Given the description of an element on the screen output the (x, y) to click on. 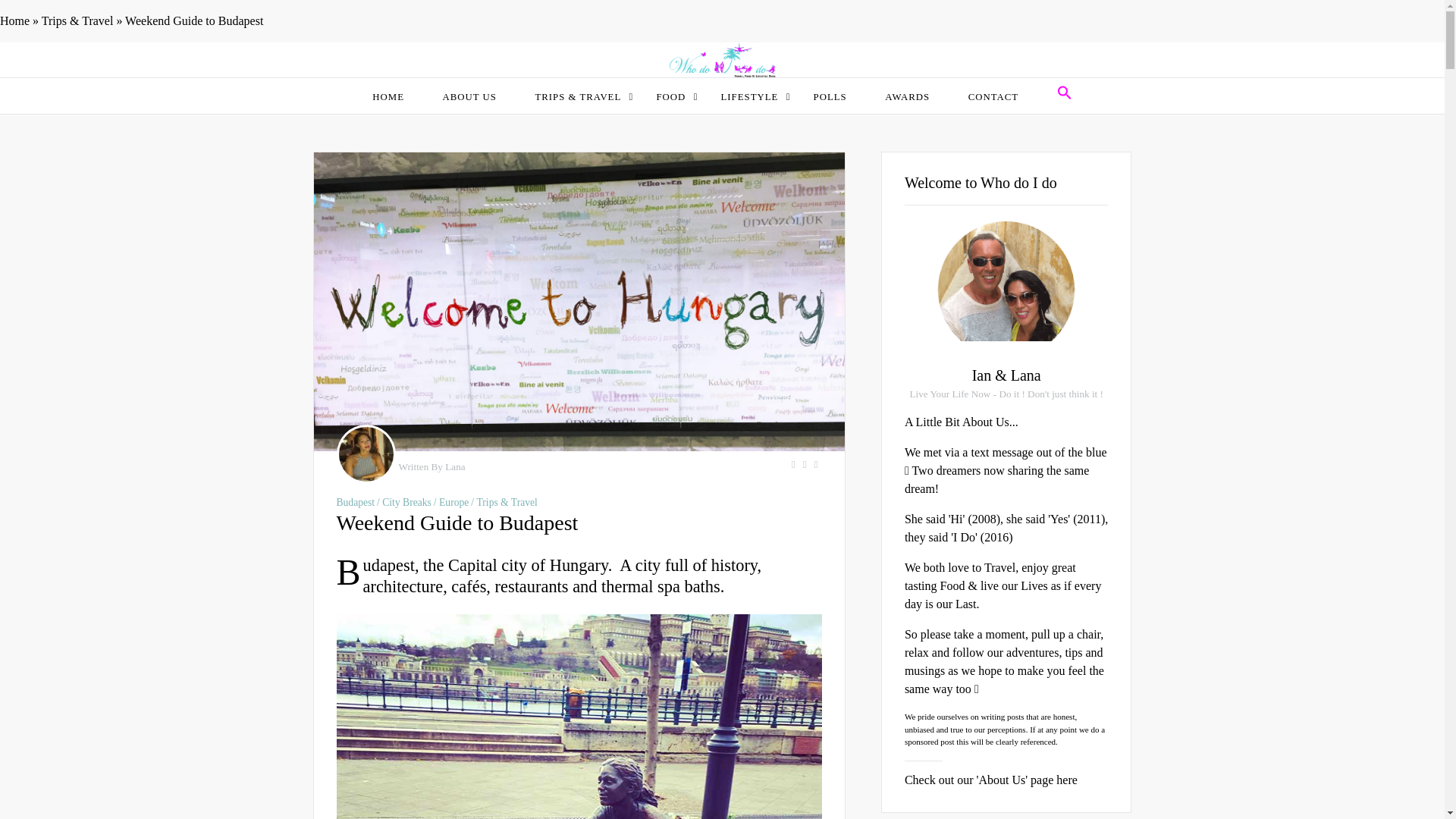
CONTACT (992, 97)
ABOUT US (469, 97)
HOME (388, 97)
FOOD (670, 97)
Girl with her dog statue - Budapest (579, 716)
AWARDS (907, 97)
LIFESTYLE (749, 97)
POLLS (830, 97)
Home (14, 20)
